Given the description of an element on the screen output the (x, y) to click on. 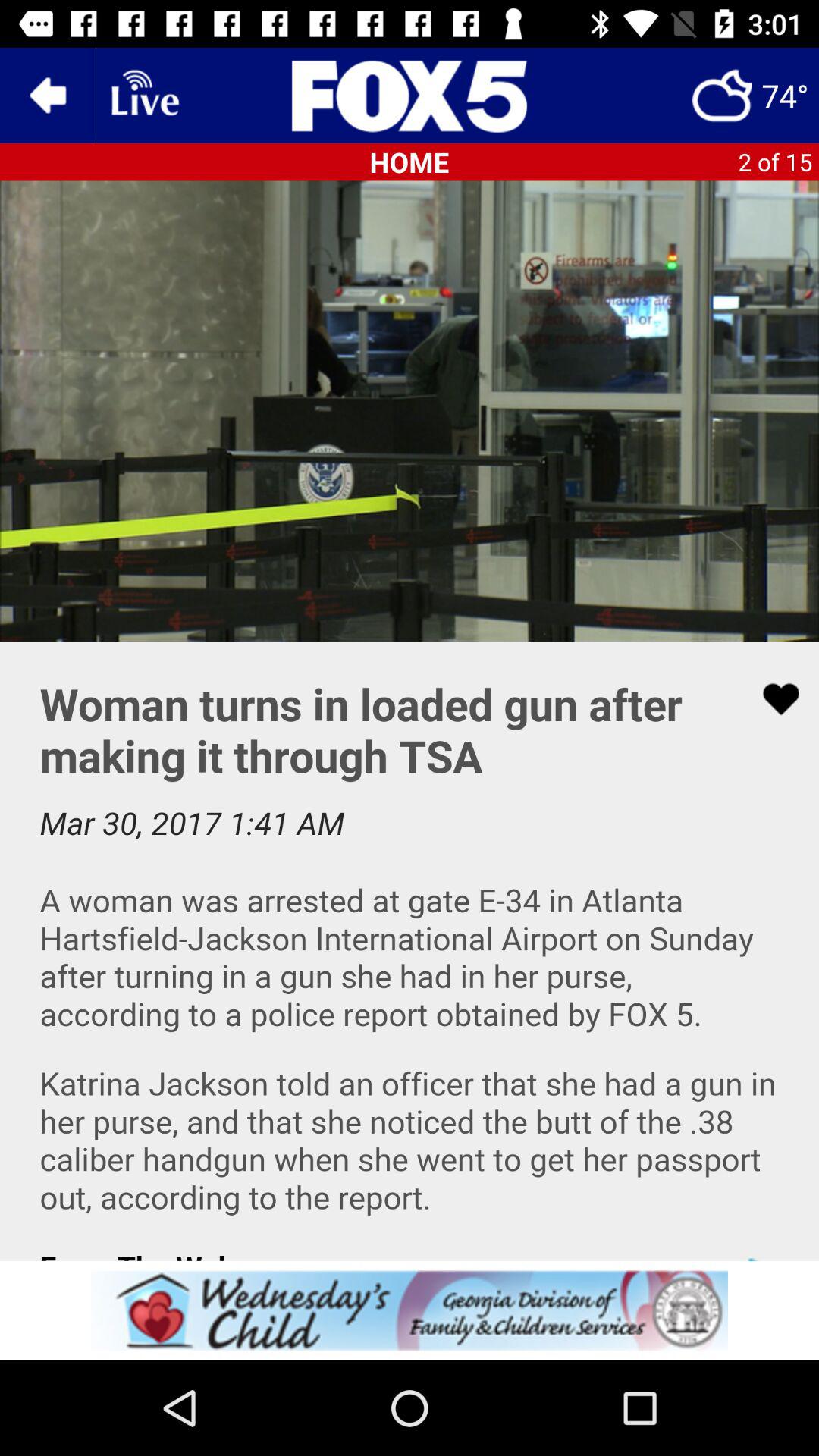
link to livestream (143, 95)
